Given the description of an element on the screen output the (x, y) to click on. 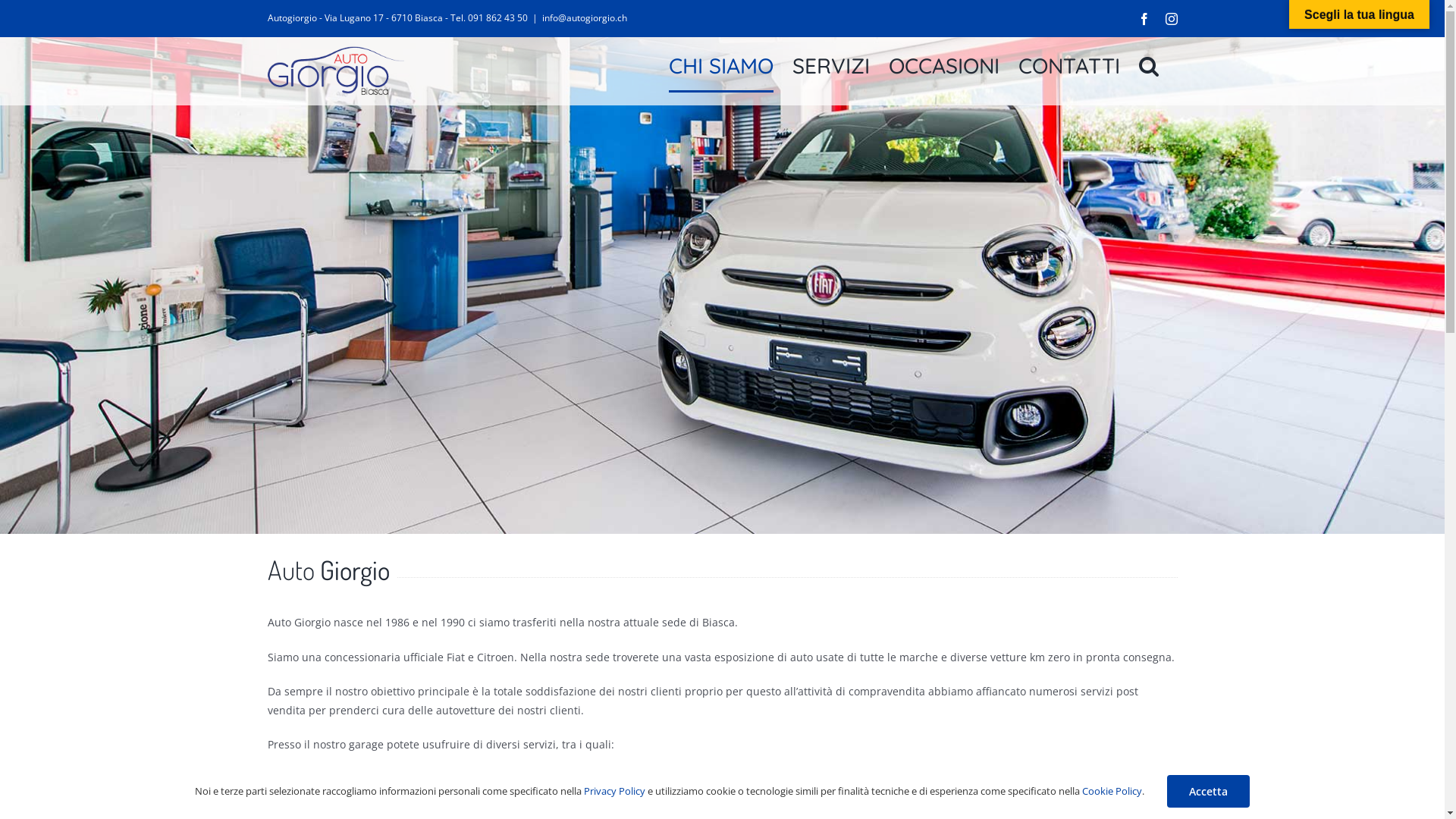
Search Element type: hover (1148, 65)
CONTATTI Element type: text (1068, 65)
Instagram Element type: text (1170, 18)
team-auto-giorgio-biasca Element type: hover (722, 285)
Facebook Element type: text (1143, 18)
Accetta Element type: text (1208, 791)
Privacy Policy Element type: text (614, 790)
SERVIZI Element type: text (830, 65)
Cookie Policy Element type: text (1112, 790)
CHI SIAMO Element type: text (720, 65)
OCCASIONI Element type: text (943, 65)
info@autogiorgio.ch Element type: text (583, 17)
